Given the description of an element on the screen output the (x, y) to click on. 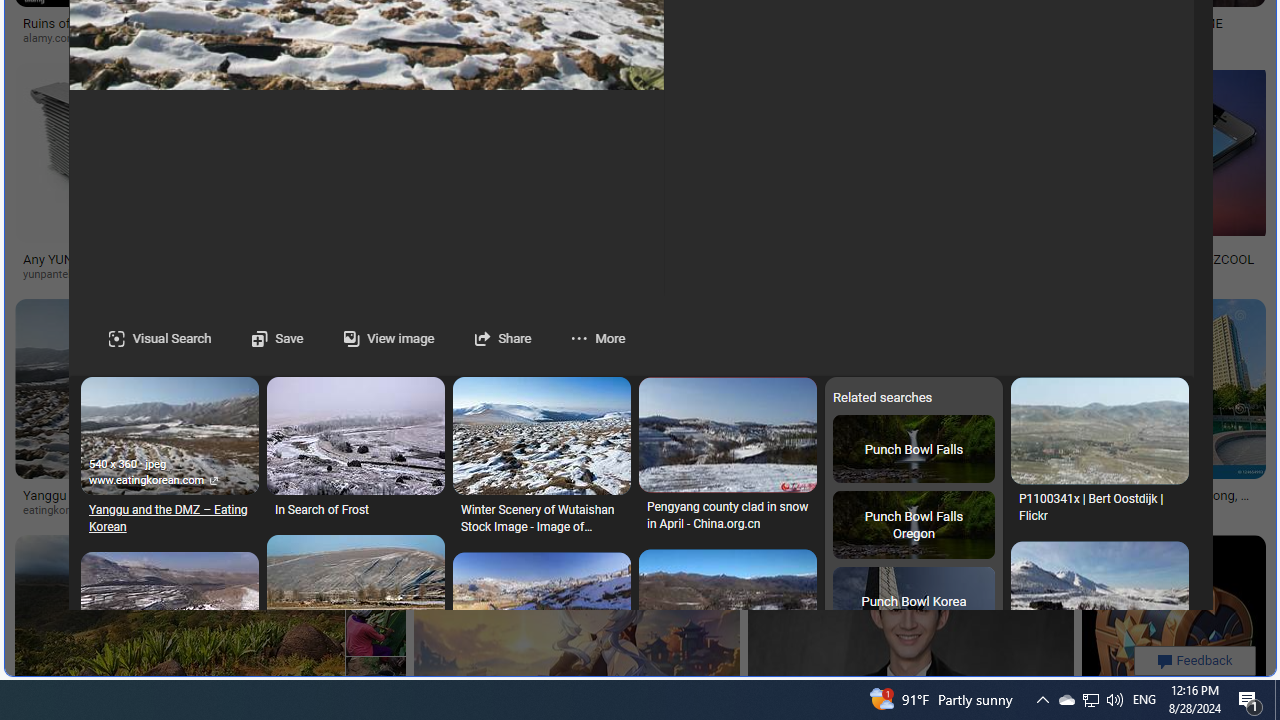
cpophome.com (1133, 38)
yunpantelecom.com (98, 274)
dreamstime.com (613, 511)
Dreamstime (1110, 509)
yunpantelecom.com (79, 273)
shopee.ph (848, 37)
cpophome.com (1053, 37)
